Given the description of an element on the screen output the (x, y) to click on. 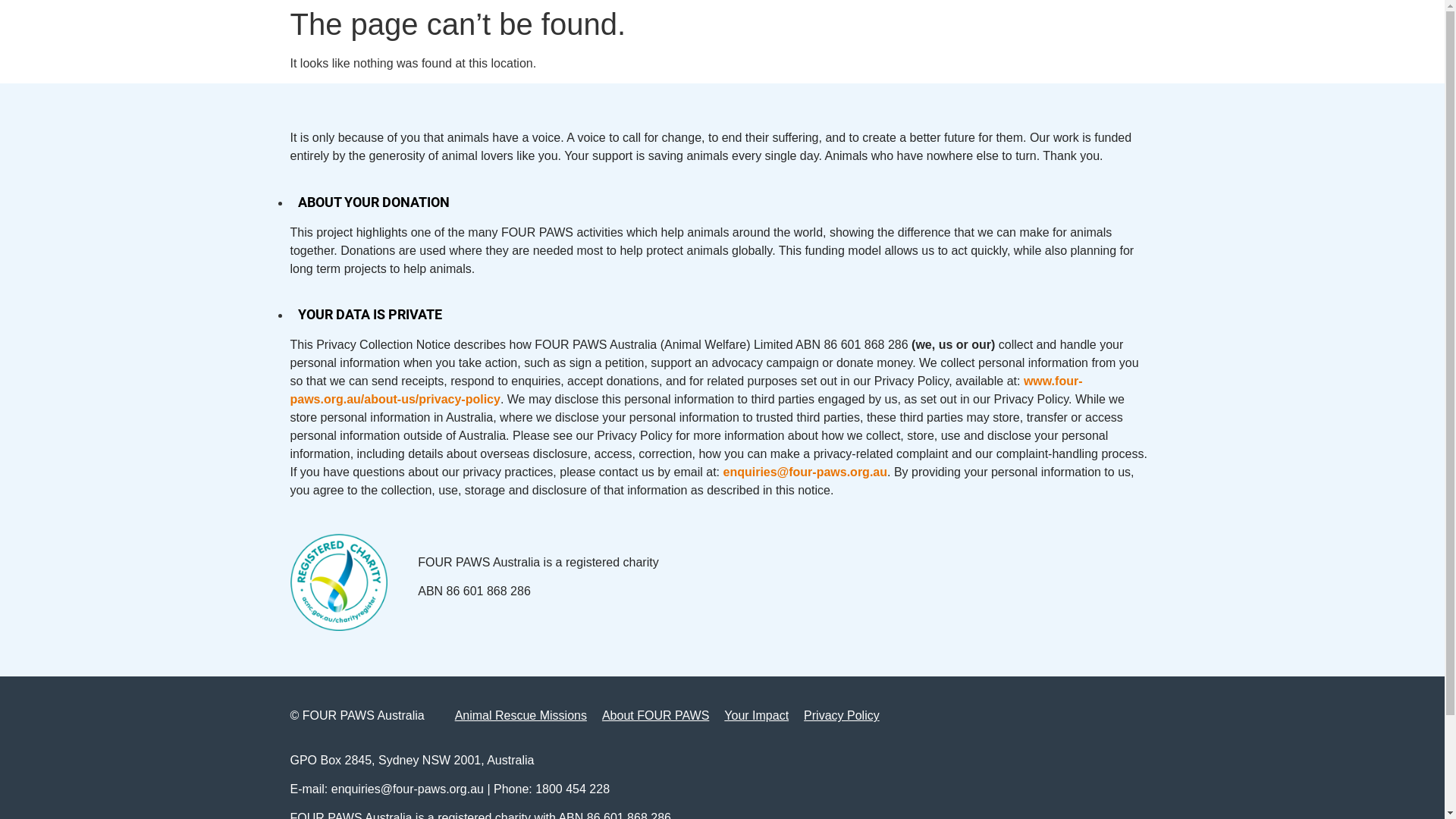
enquiries@four-paws.org.au Element type: text (804, 471)
www.four-paws.org.au/about-us/privacy-policy Element type: text (685, 389)
Your Impact Element type: text (756, 715)
About FOUR PAWS Element type: text (655, 715)
Animal Rescue Missions Element type: text (520, 715)
Privacy Policy Element type: text (841, 715)
